Given the description of an element on the screen output the (x, y) to click on. 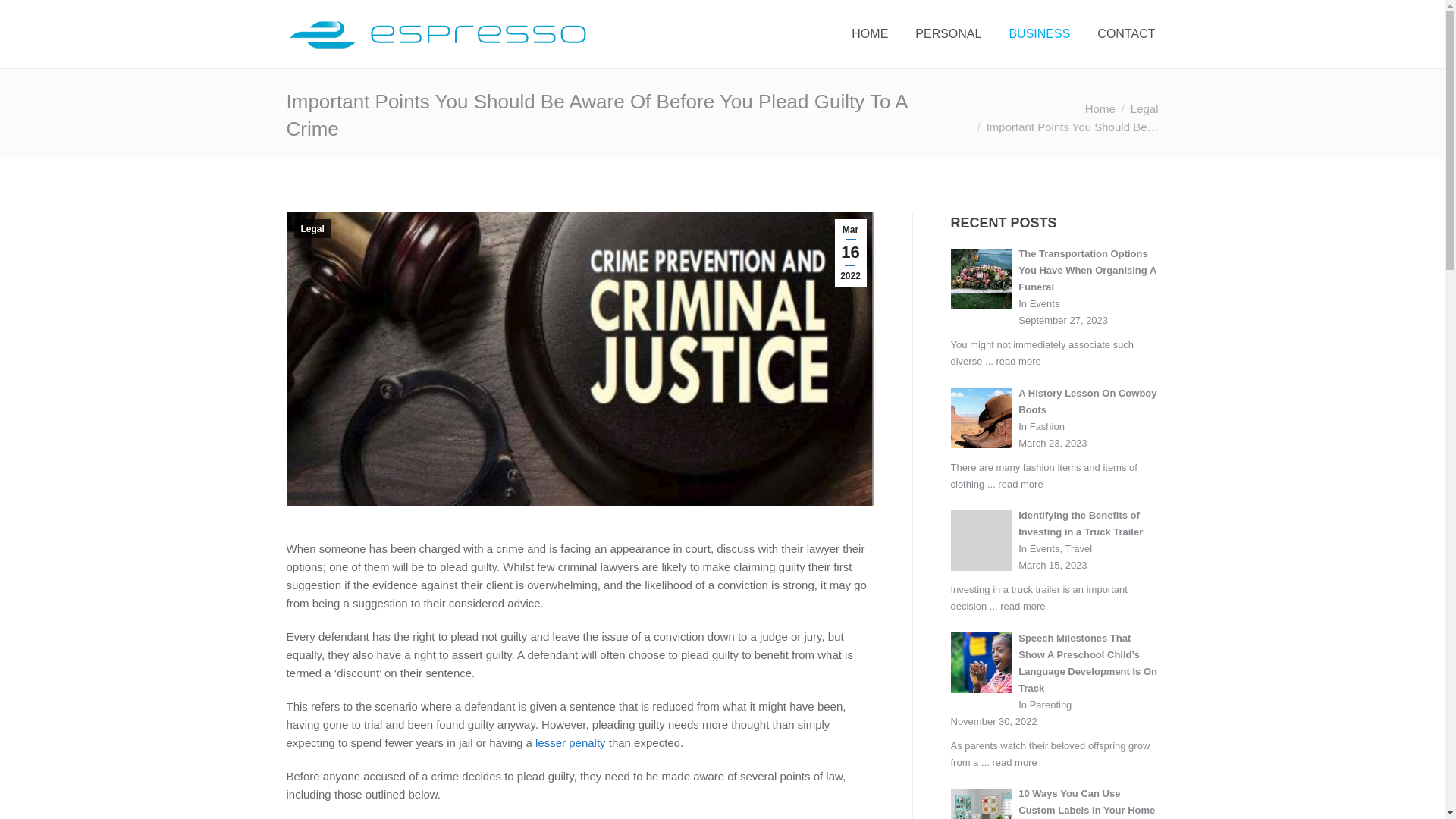
lesser penalty (570, 741)
Legal (312, 228)
BUSINESS (1039, 34)
HOME (869, 34)
CONTACT (1125, 34)
Home (1099, 108)
Legal (1144, 108)
PERSONAL (948, 34)
